Given the description of an element on the screen output the (x, y) to click on. 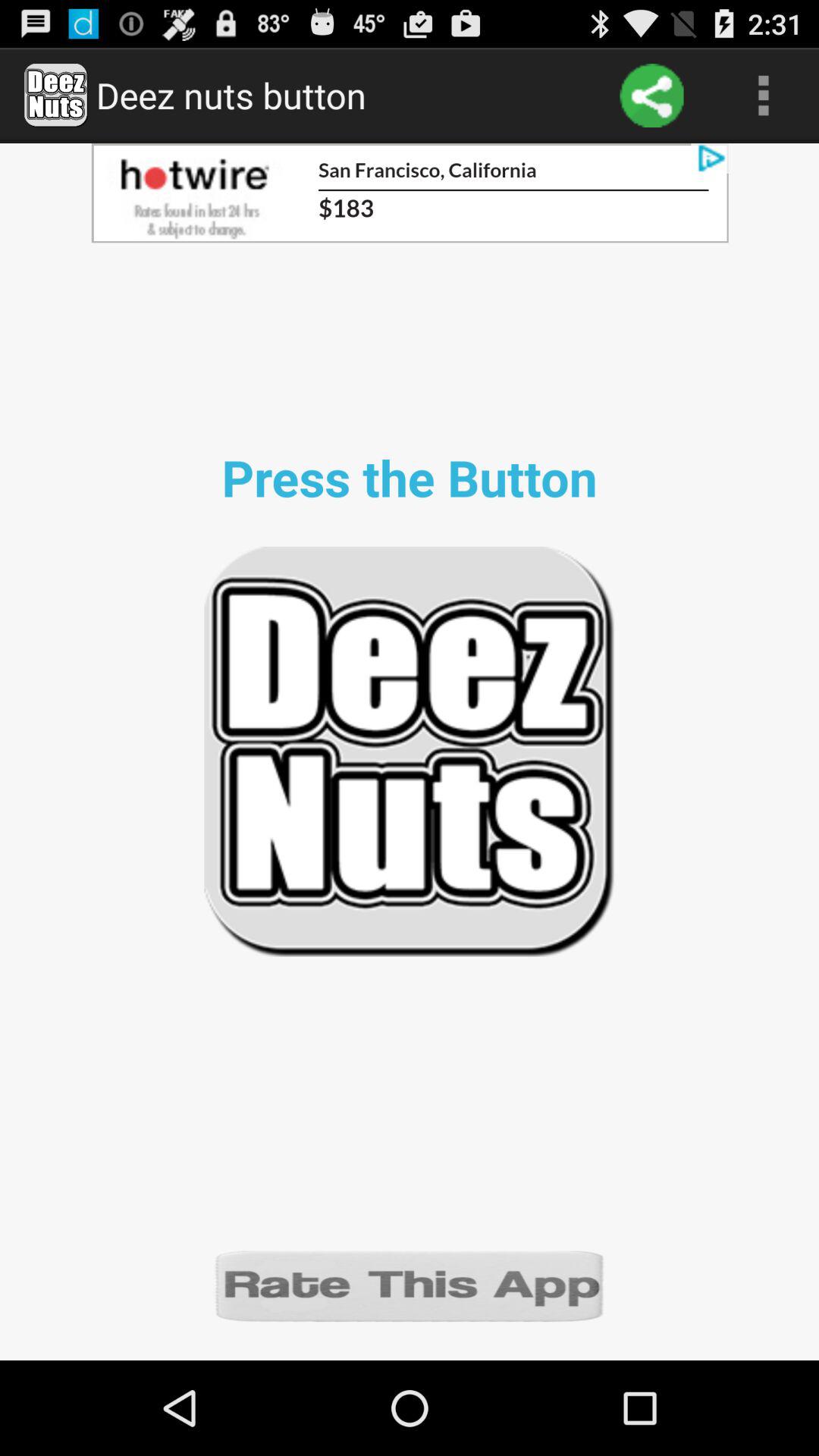
advertising pop up banner (409, 192)
